Given the description of an element on the screen output the (x, y) to click on. 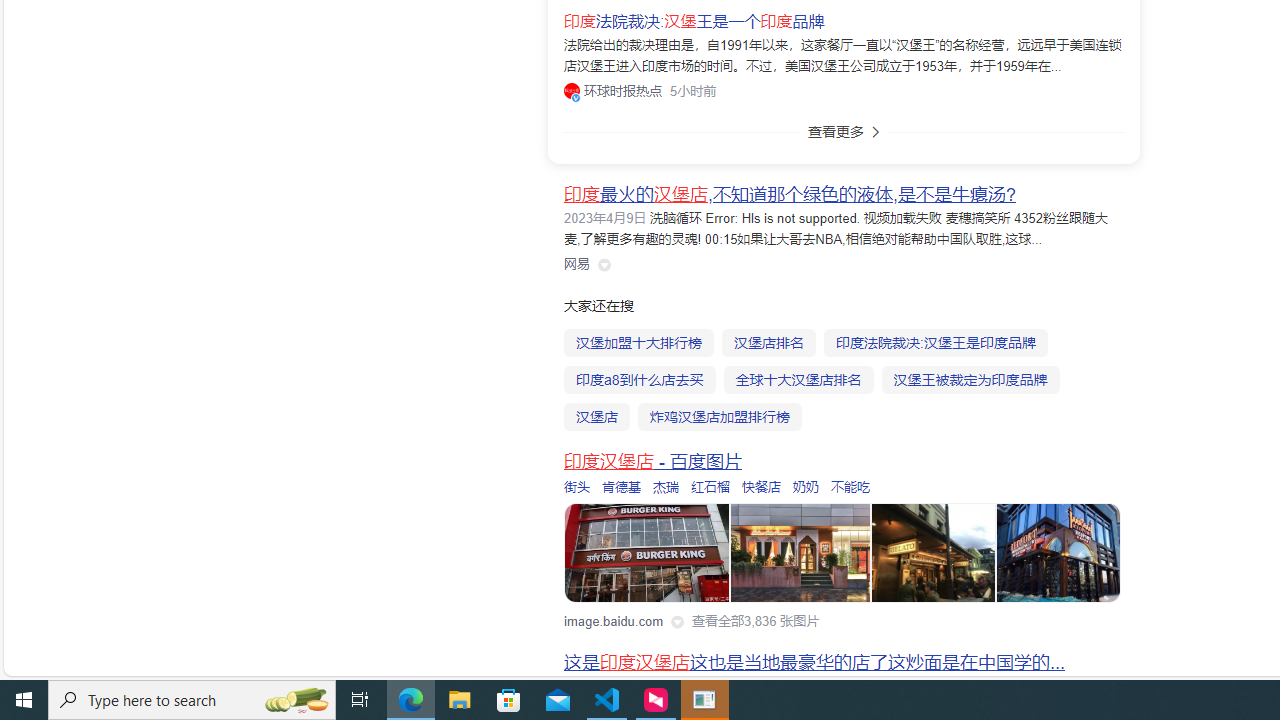
Class: siteLink_9TPP3 (577, 264)
